Given the description of an element on the screen output the (x, y) to click on. 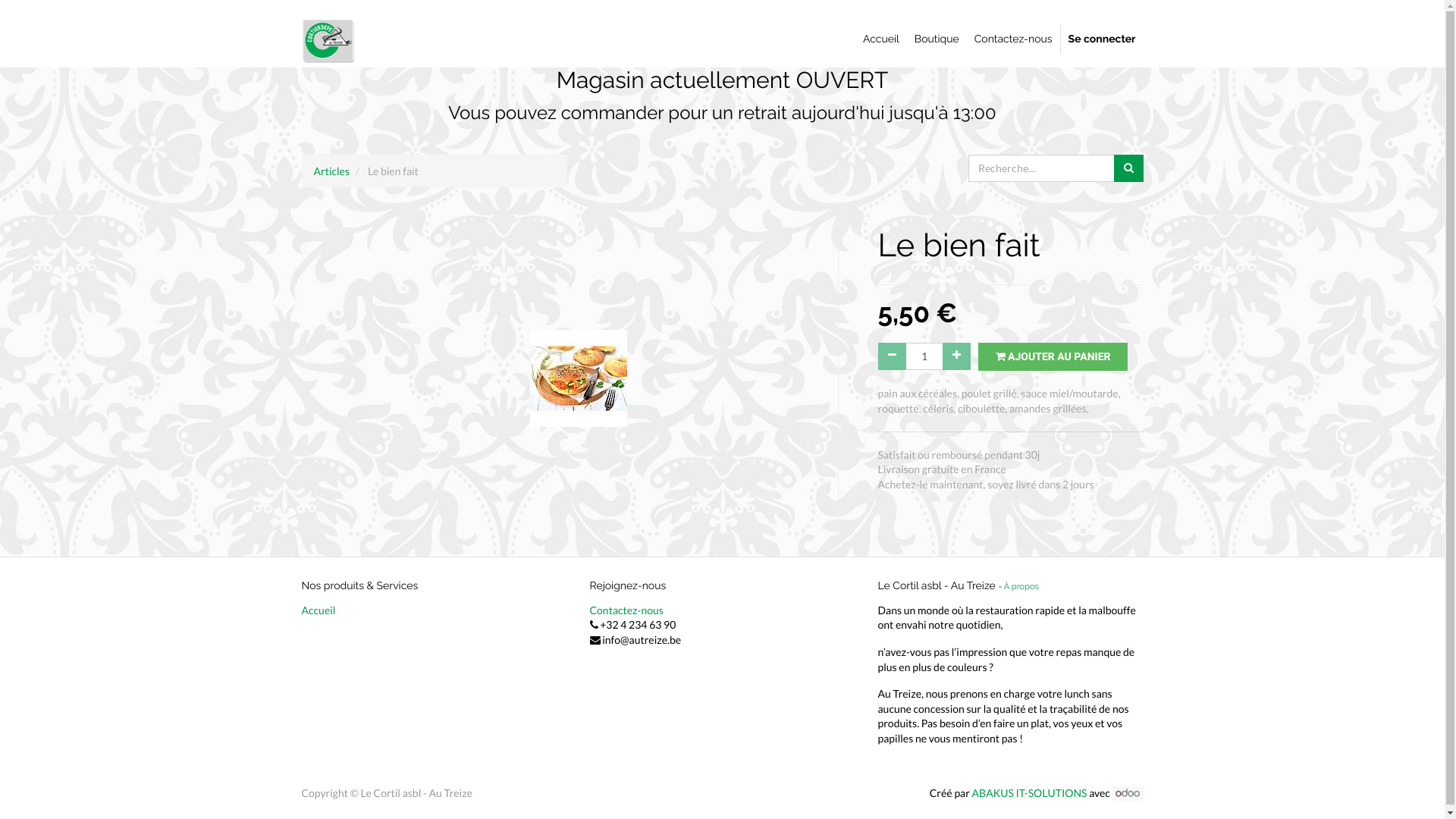
ABAKUS IT-SOLUTIONS Element type: text (1029, 792)
Accueil Element type: text (318, 609)
Accueil Element type: text (880, 40)
Articles Element type: text (331, 170)
Ajouter Element type: hover (955, 356)
Contactez-nous Element type: text (626, 609)
Boutique Element type: text (936, 40)
Contactez-nous Element type: text (1013, 40)
Rechercher Element type: hover (1127, 168)
AJOUTER AU PANIER Element type: text (1053, 356)
Au Treize - Lunch Element type: hover (328, 39)
Supprimer Element type: hover (892, 356)
Se connecter Element type: text (1101, 40)
